Given the description of an element on the screen output the (x, y) to click on. 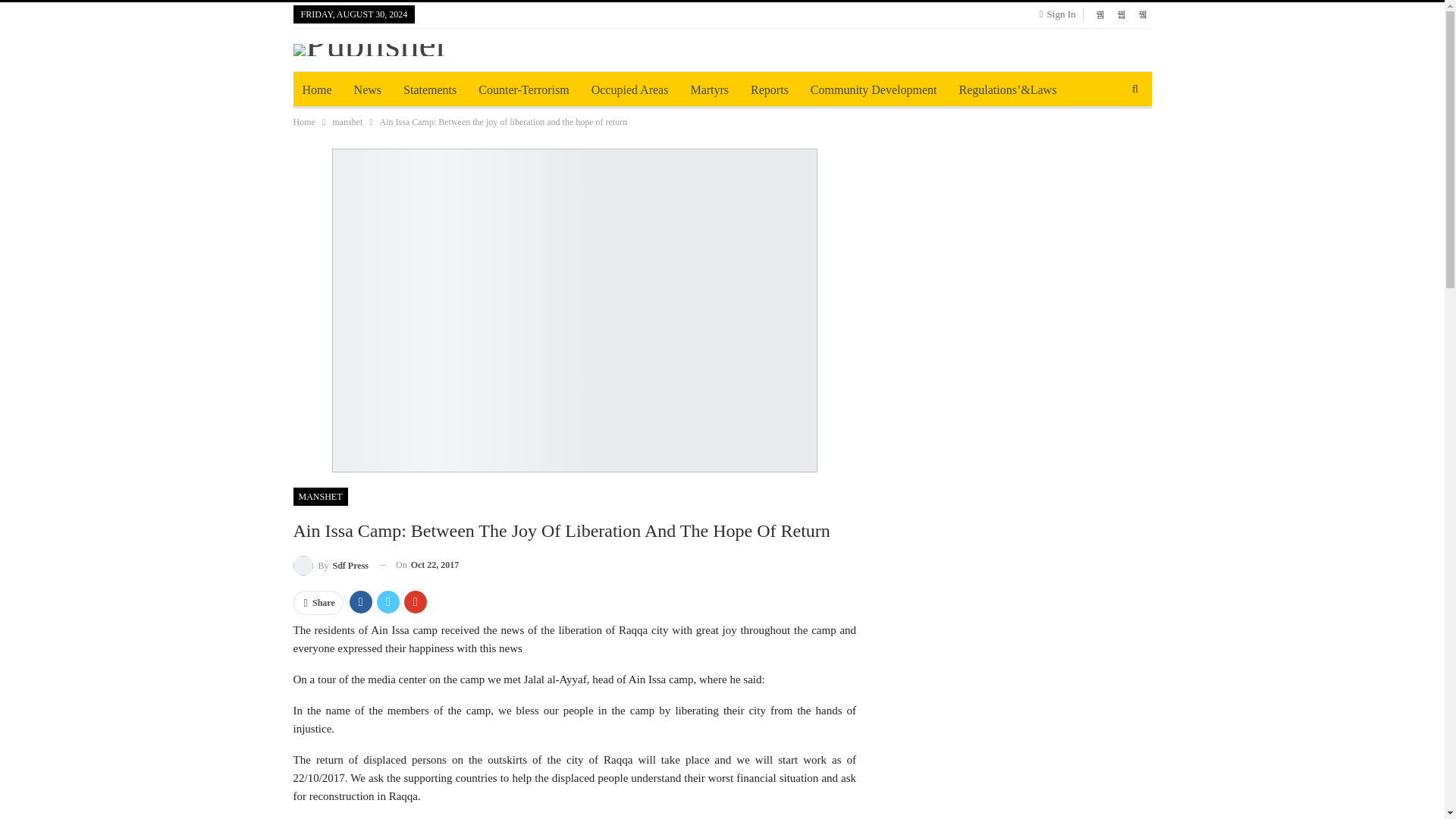
Reports (769, 90)
Counter-Terrorism (523, 90)
Occupied Areas (630, 90)
News (367, 90)
Browse Author Articles (330, 565)
Sign In (1060, 13)
Community Development (874, 90)
Home (303, 121)
manshet (346, 121)
MANSHET (319, 496)
